Given the description of an element on the screen output the (x, y) to click on. 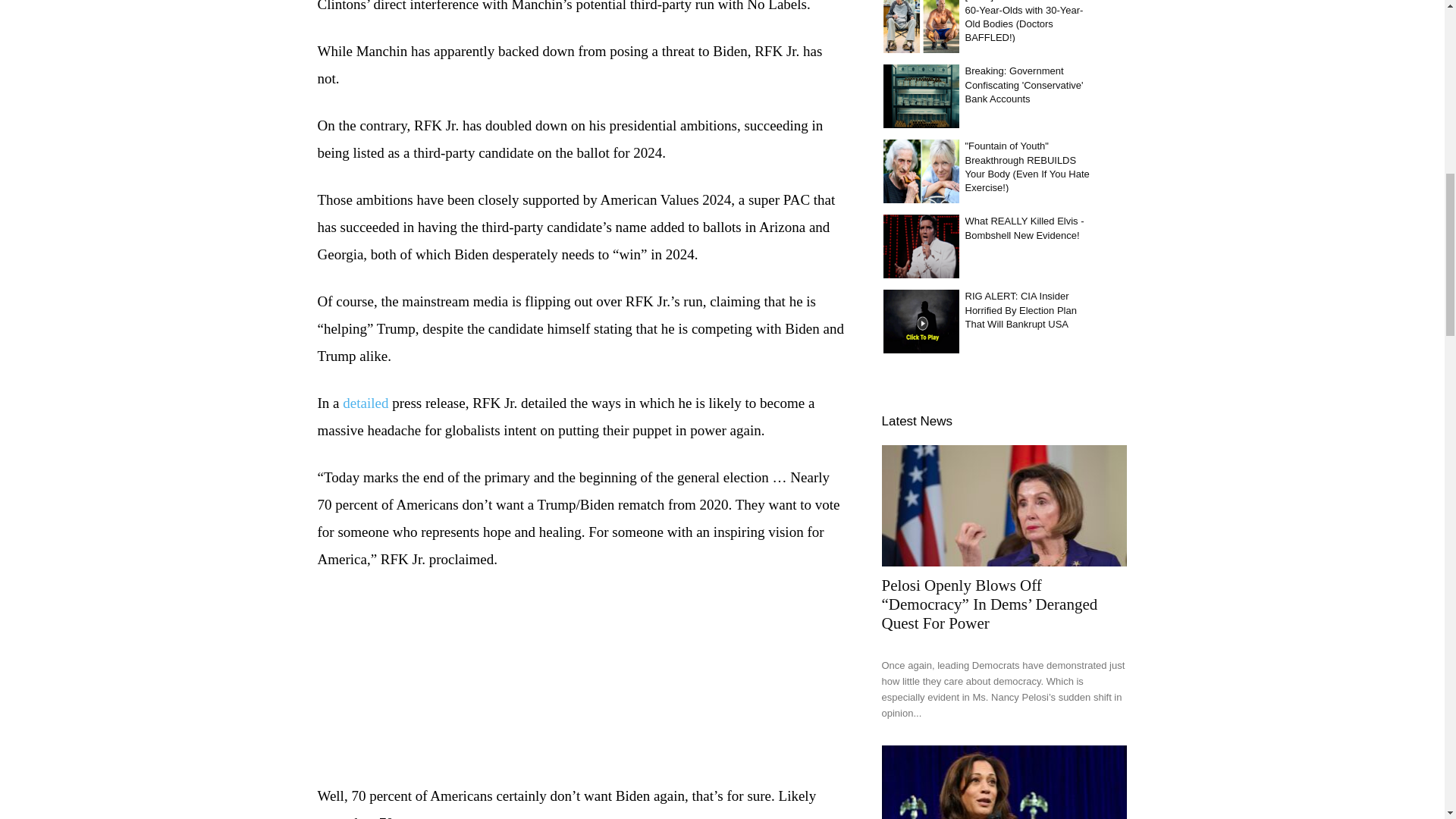
detailed (365, 402)
What REALLY Killed Elvis - Bombshell New Evidence! (920, 245)
